Given the description of an element on the screen output the (x, y) to click on. 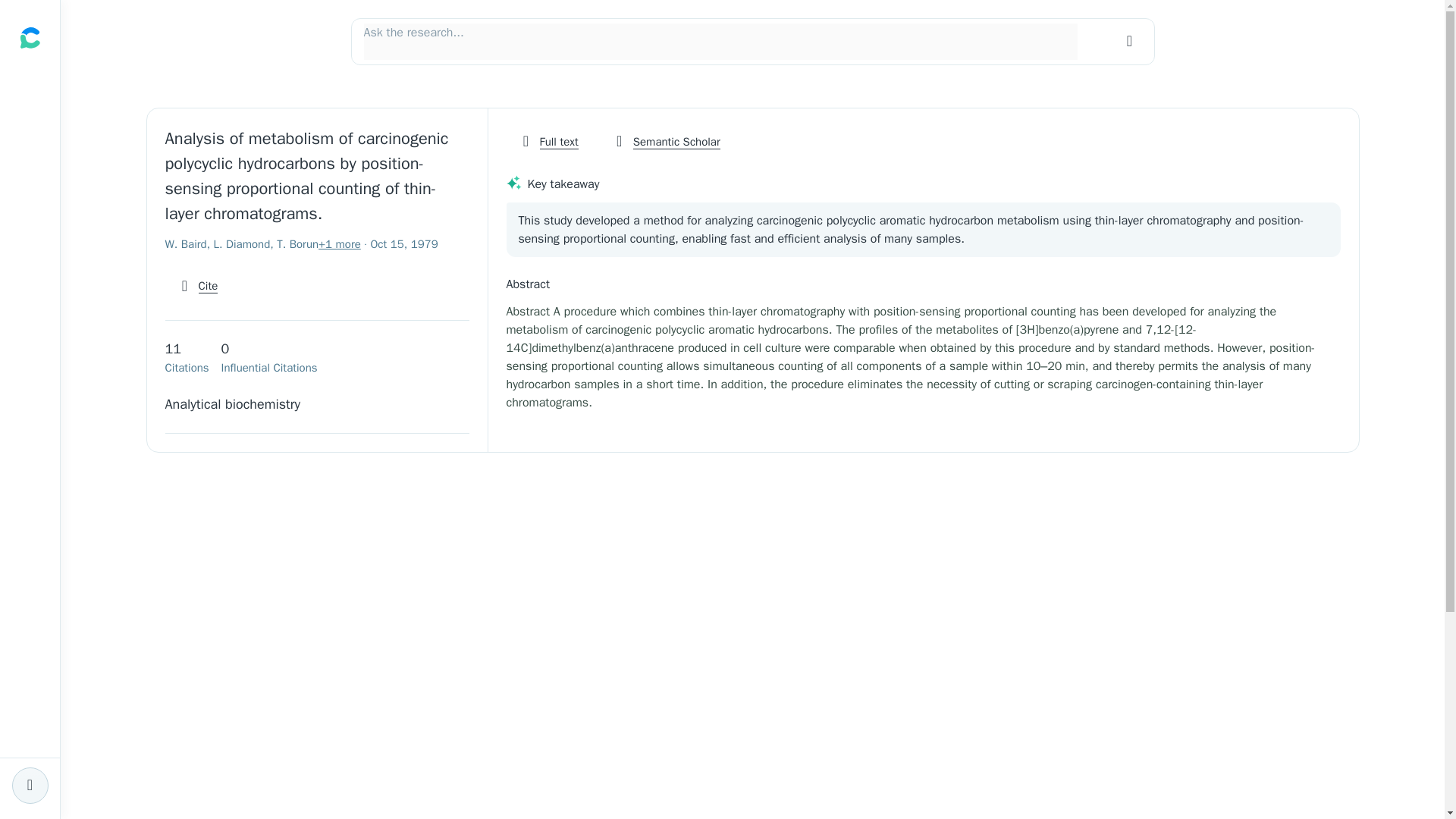
Cite (197, 286)
Full text (548, 141)
Semantic Scholar (665, 141)
